Given the description of an element on the screen output the (x, y) to click on. 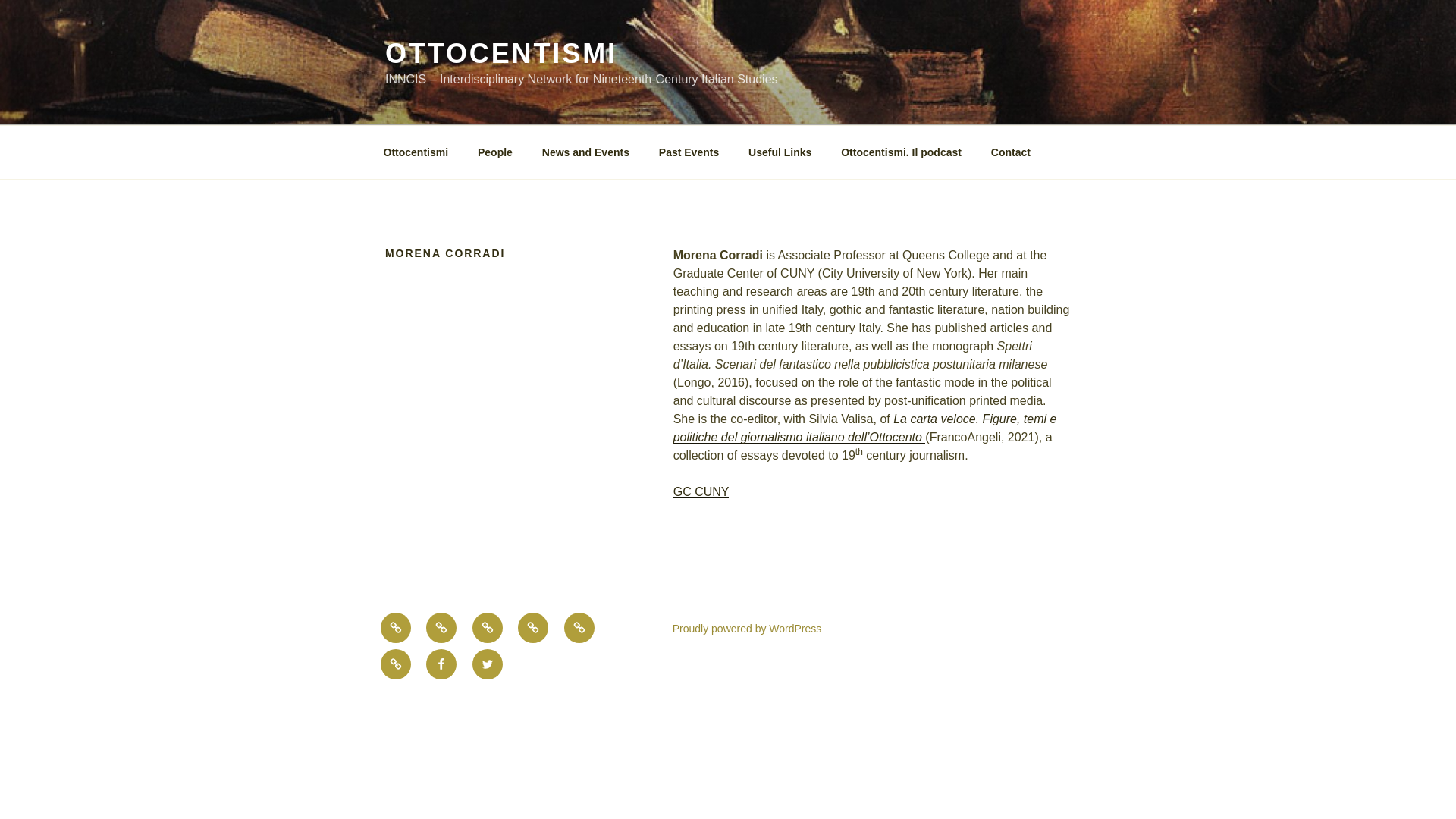
News and Events (585, 151)
Useful Links (579, 627)
Ottocentismi (395, 627)
Ottocentismi (415, 151)
OTTOCENTISMI (501, 52)
Contact (1009, 151)
News and Events (486, 627)
Facebook (441, 664)
Ottocentismi. Il podcast (901, 151)
PAST EVENTS (533, 627)
Proudly powered by WordPress (747, 628)
GC CUNY (700, 491)
Contact (395, 664)
X (486, 664)
People (441, 627)
